Given the description of an element on the screen output the (x, y) to click on. 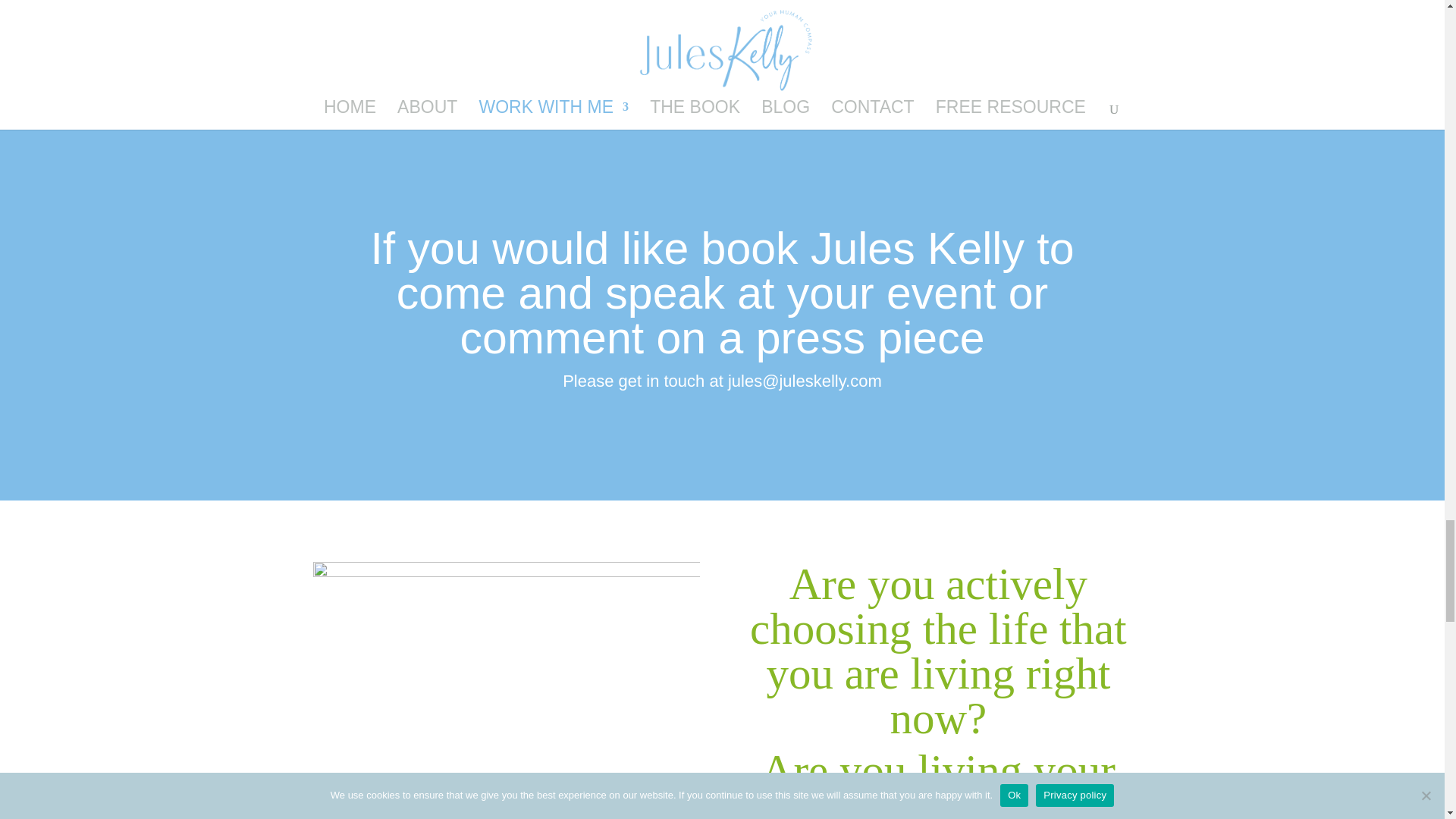
Take the Quiz (505, 690)
